Given the description of an element on the screen output the (x, y) to click on. 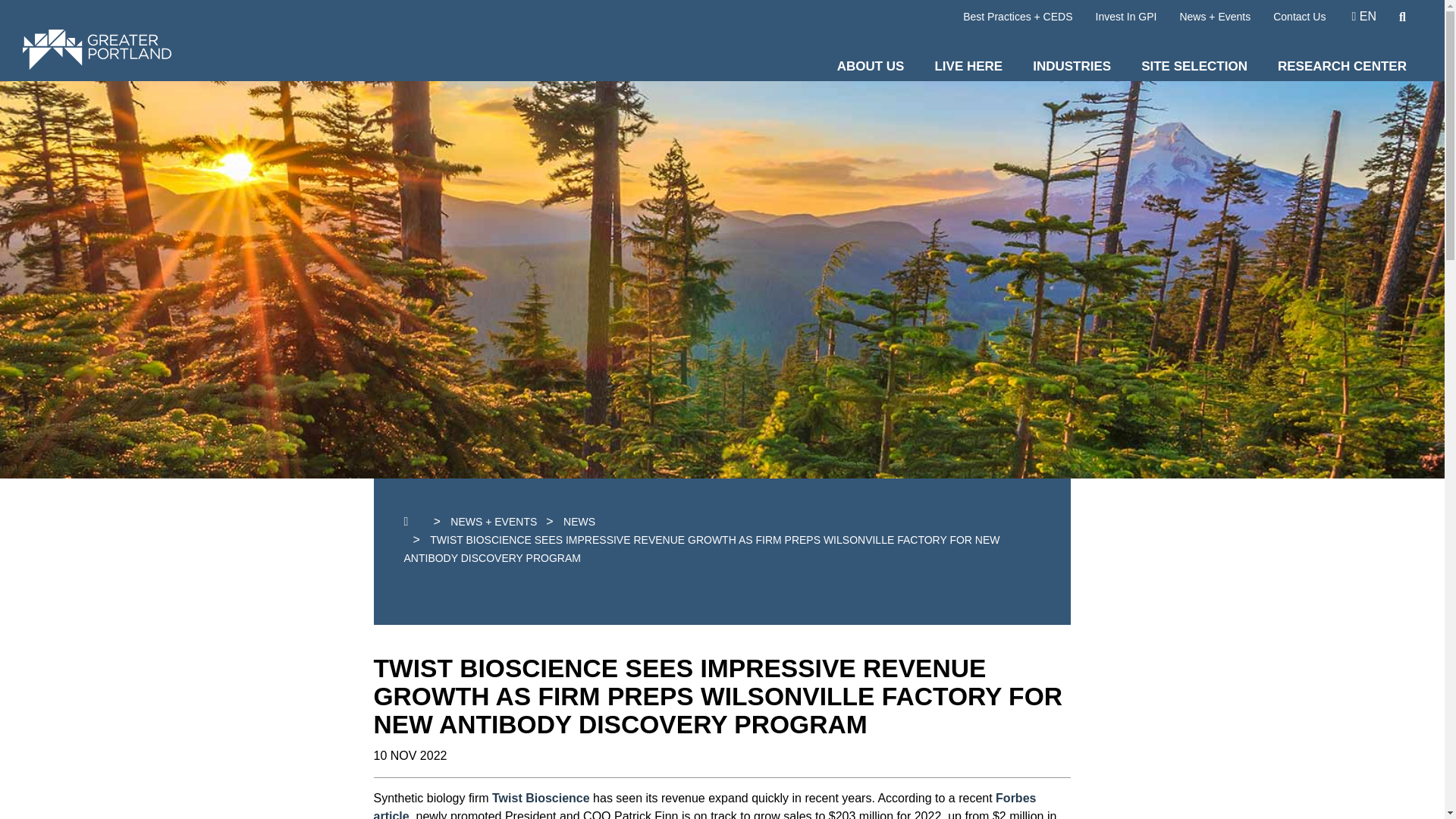
ABOUT US (871, 60)
INDUSTRIES (1071, 60)
Invest In GPI (1126, 16)
RESEARCH CENTER (1342, 60)
LIVE HERE (967, 60)
Contact Us (1298, 16)
SITE SELECTION (1193, 60)
